Given the description of an element on the screen output the (x, y) to click on. 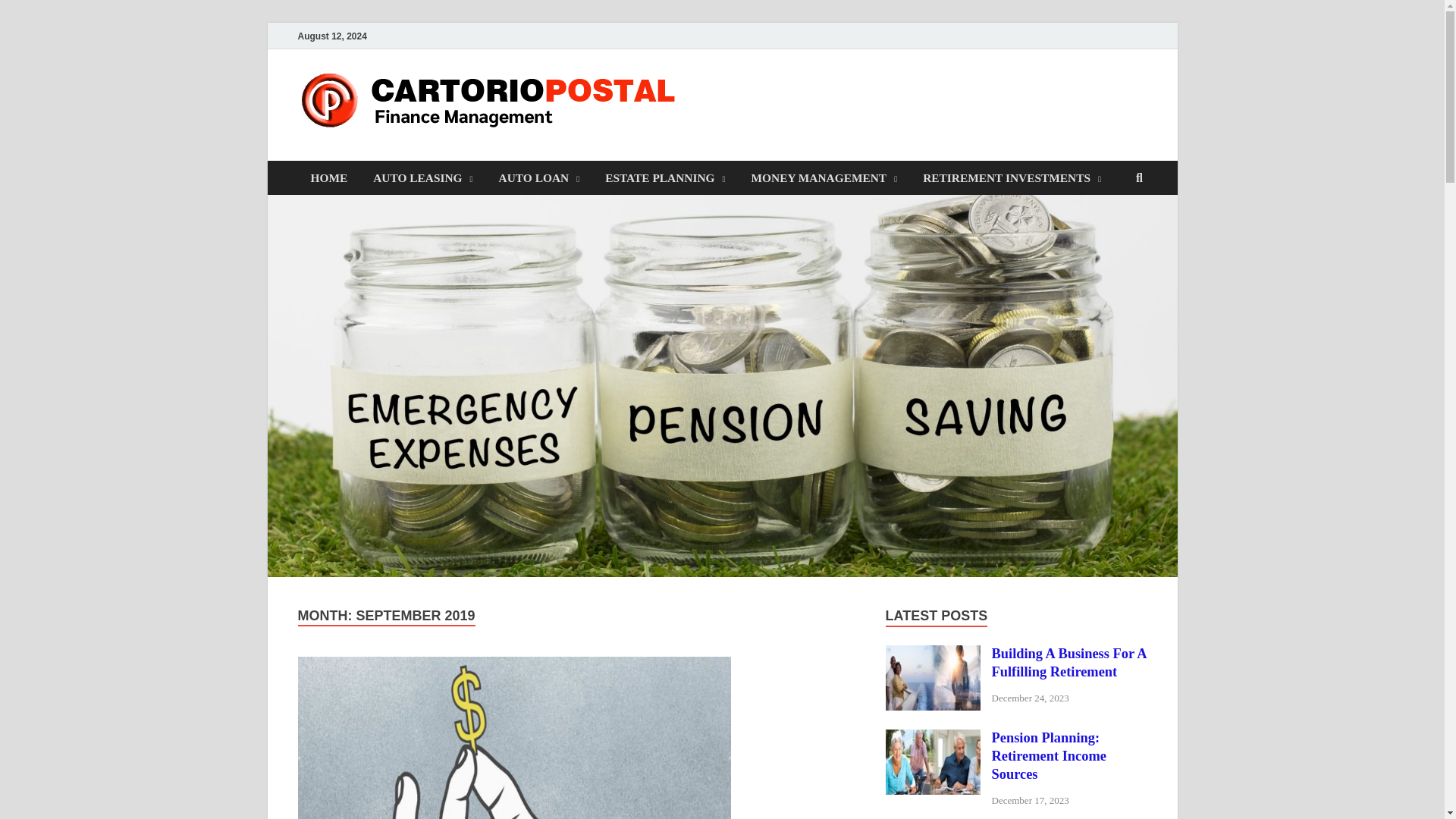
CP-Finance (766, 100)
HOME (328, 177)
Building A Business For A Fulfilling Retirement (932, 654)
AUTO LOAN (539, 177)
AUTO LEASING (421, 177)
MONEY MANAGEMENT (824, 177)
ESTATE PLANNING (665, 177)
Pension Planning: Retirement Income Sources (932, 739)
RETIREMENT INVESTMENTS (1011, 177)
